Given the description of an element on the screen output the (x, y) to click on. 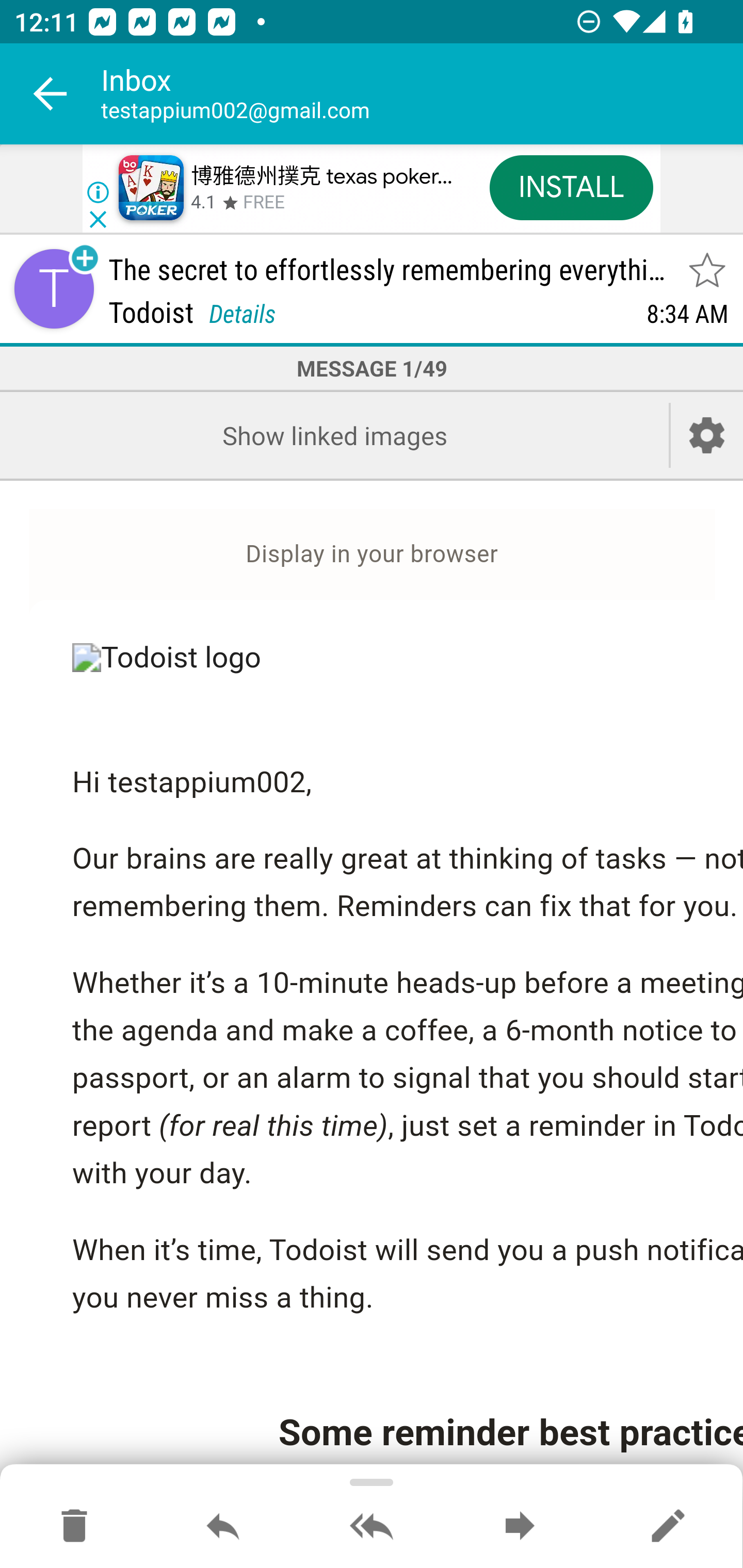
Navigate up (50, 93)
Inbox testappium002@gmail.com (422, 93)
INSTALL (570, 187)
博雅德州撲克 texas poker… (321, 177)
4.1 (203, 202)
FREE (263, 202)
Sender contact button (53, 289)
Show linked images (334, 435)
Account setup (706, 435)
Display in your browser (371, 553)
Move to Deleted (74, 1527)
Reply (222, 1527)
Reply all (371, 1527)
Forward (519, 1527)
Reply as new (667, 1527)
